Given the description of an element on the screen output the (x, y) to click on. 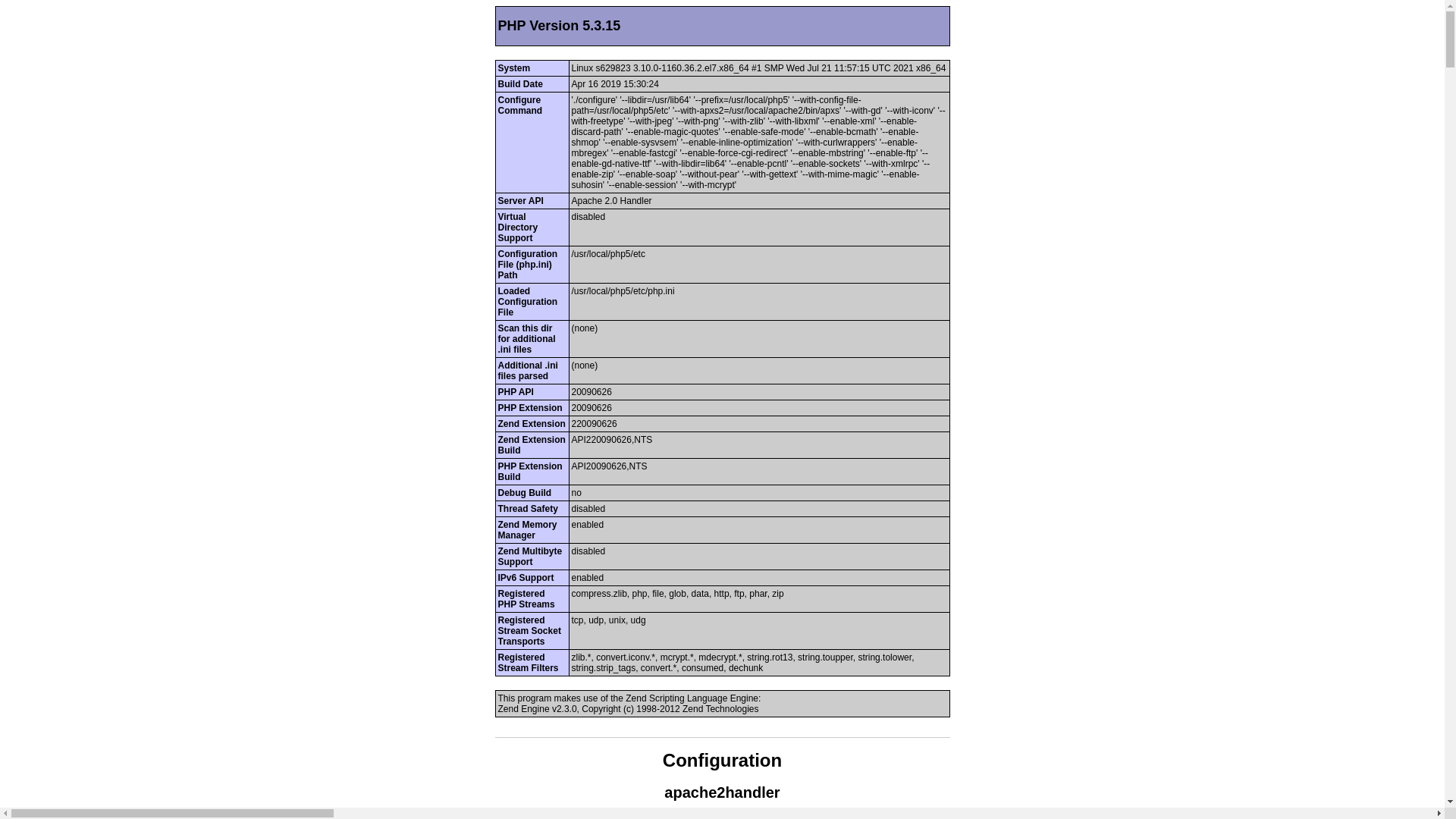
apache2handler Element type: text (721, 792)
